Given the description of an element on the screen output the (x, y) to click on. 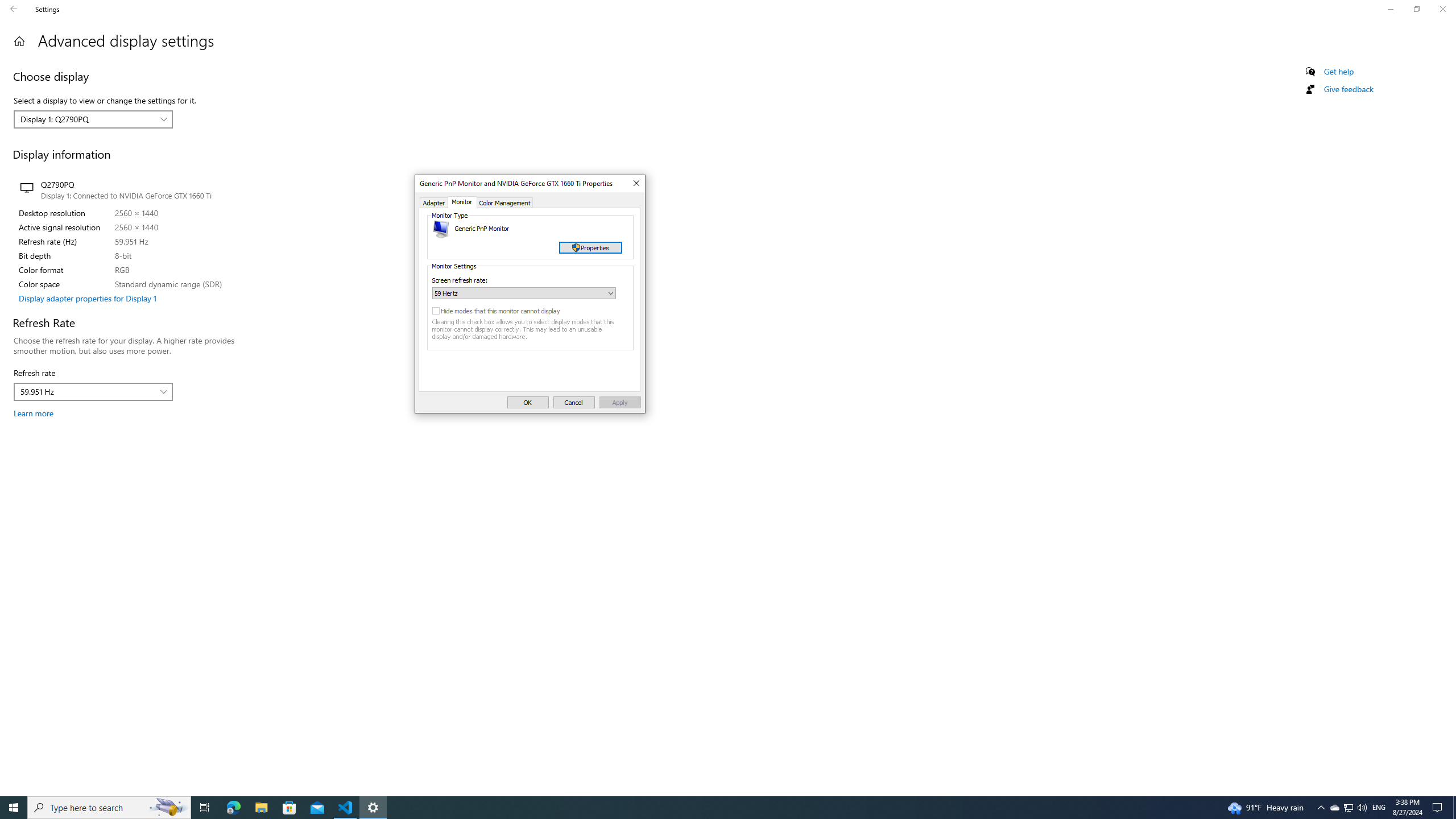
Monitor (462, 202)
Open (611, 292)
Color Management (505, 202)
Adapter (433, 202)
Cancel (574, 401)
Screen refresh rate: (523, 292)
